Given the description of an element on the screen output the (x, y) to click on. 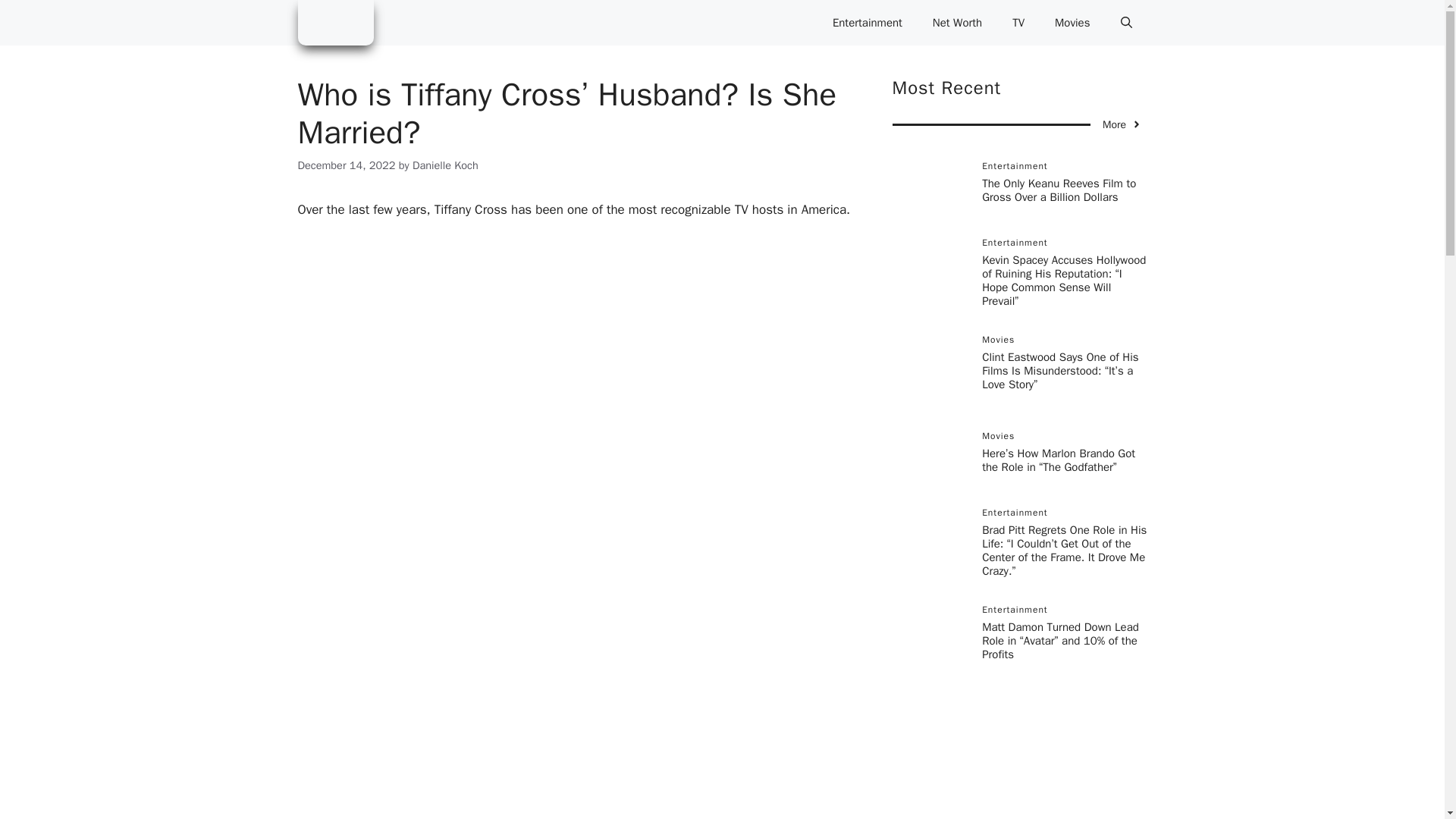
Net Worth (957, 22)
Entertainment (866, 22)
The Only Keanu Reeves Film to Gross Over a Billion Dollars (1058, 189)
Movies (1072, 22)
TV (1018, 22)
Danielle Koch (445, 164)
View all posts by Danielle Koch (445, 164)
More (1121, 124)
